Given the description of an element on the screen output the (x, y) to click on. 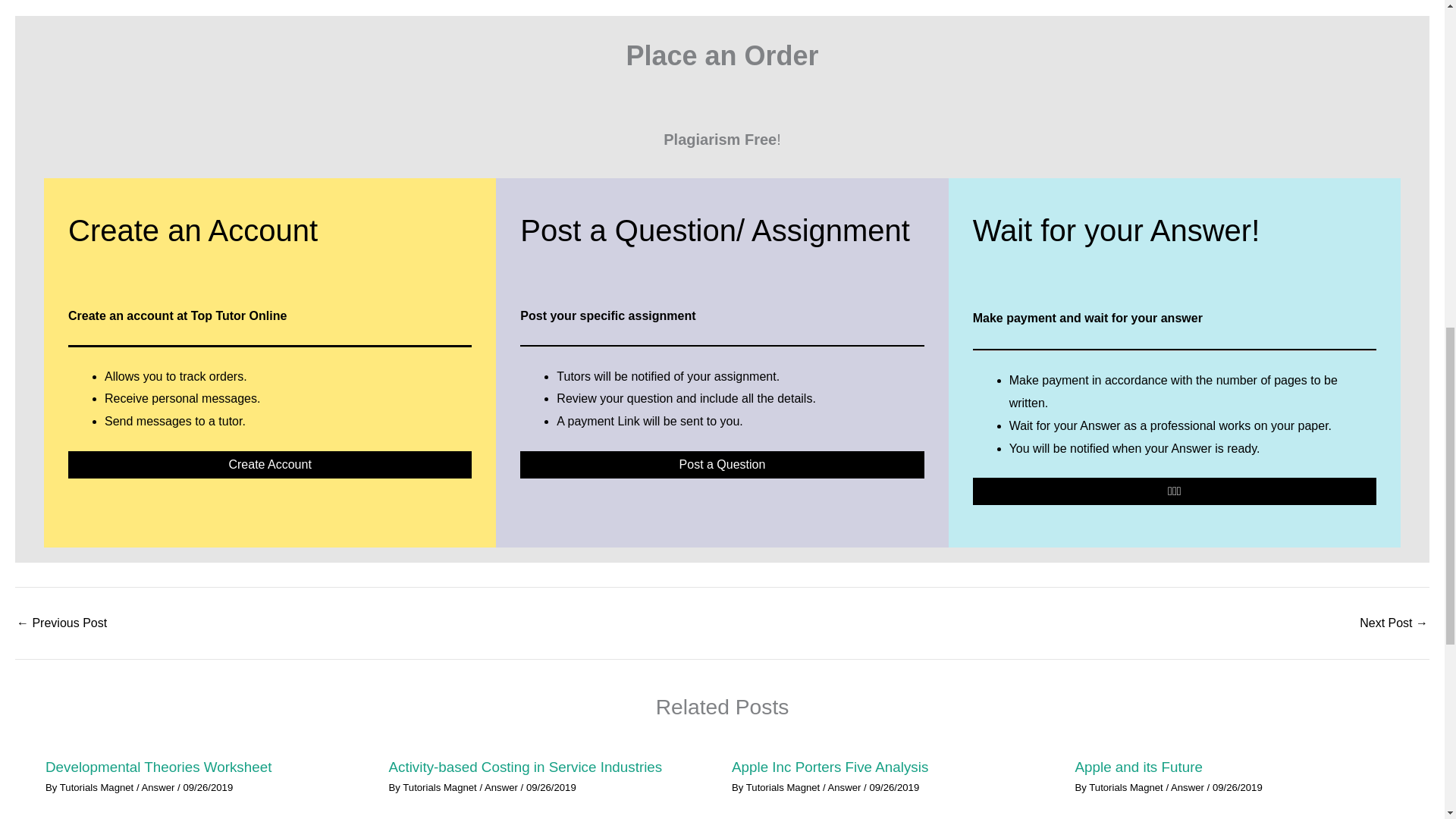
Post a Question (721, 464)
View all posts by Tutorials Magnet (1127, 787)
Create Account (269, 464)
View all posts by Tutorials Magnet (441, 787)
Target Audience of case study (1393, 623)
View all posts by Tutorials Magnet (783, 787)
View all posts by Tutorials Magnet (97, 787)
